Given the description of an element on the screen output the (x, y) to click on. 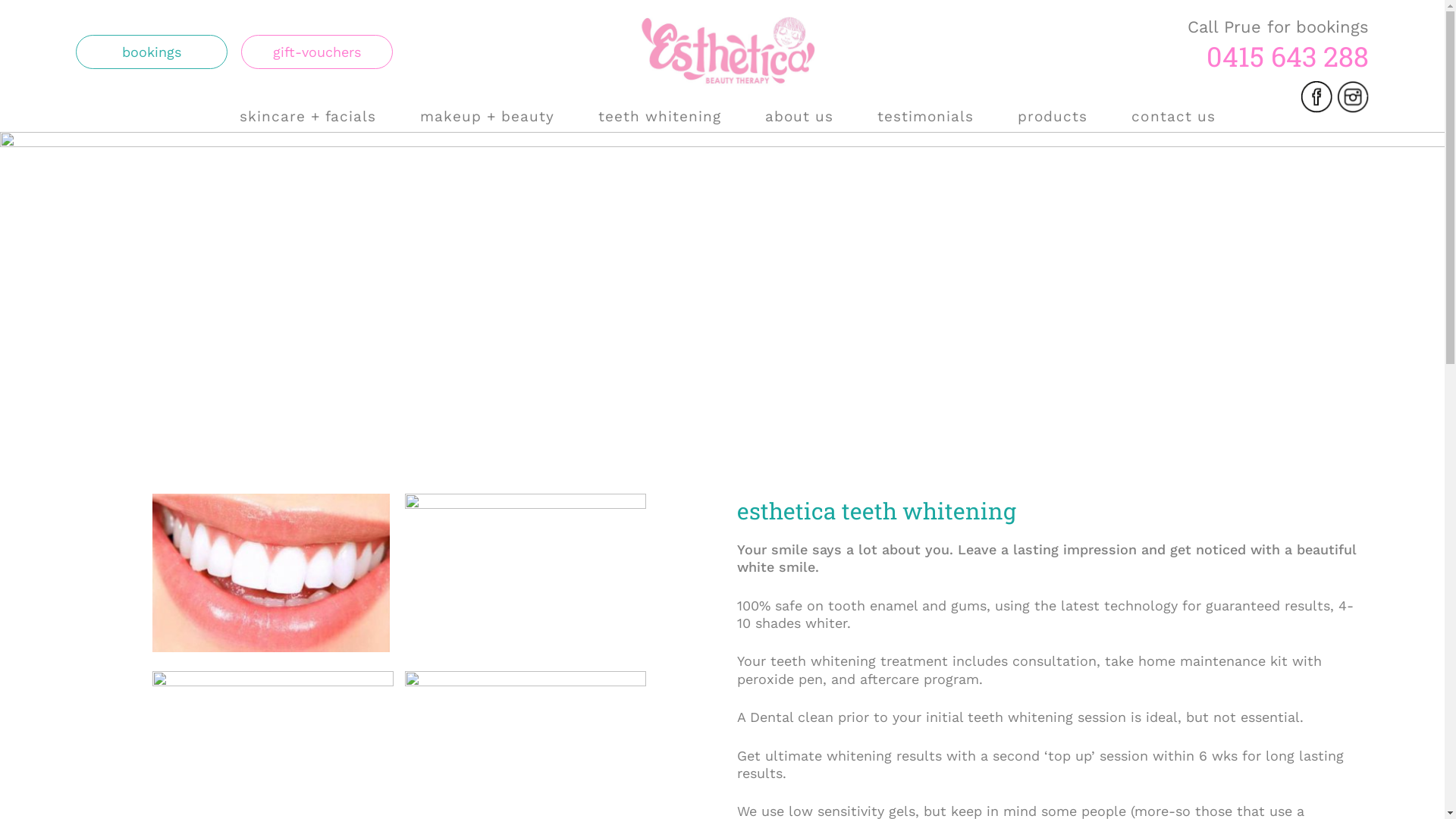
gift-vouchers Element type: text (316, 51)
testimonials Element type: text (925, 117)
products Element type: text (1052, 117)
Facebook Element type: text (1316, 94)
0415 643 288 Element type: text (1277, 56)
bookings Element type: text (151, 51)
makeup + beauty Element type: text (487, 117)
about us Element type: text (799, 117)
skincare + facials Element type: text (307, 117)
contact us Element type: text (1172, 117)
Esthetica Beauty Therapy Element type: text (618, 112)
teeth whitening Element type: text (659, 117)
Instagram Element type: text (1352, 94)
